Given the description of an element on the screen output the (x, y) to click on. 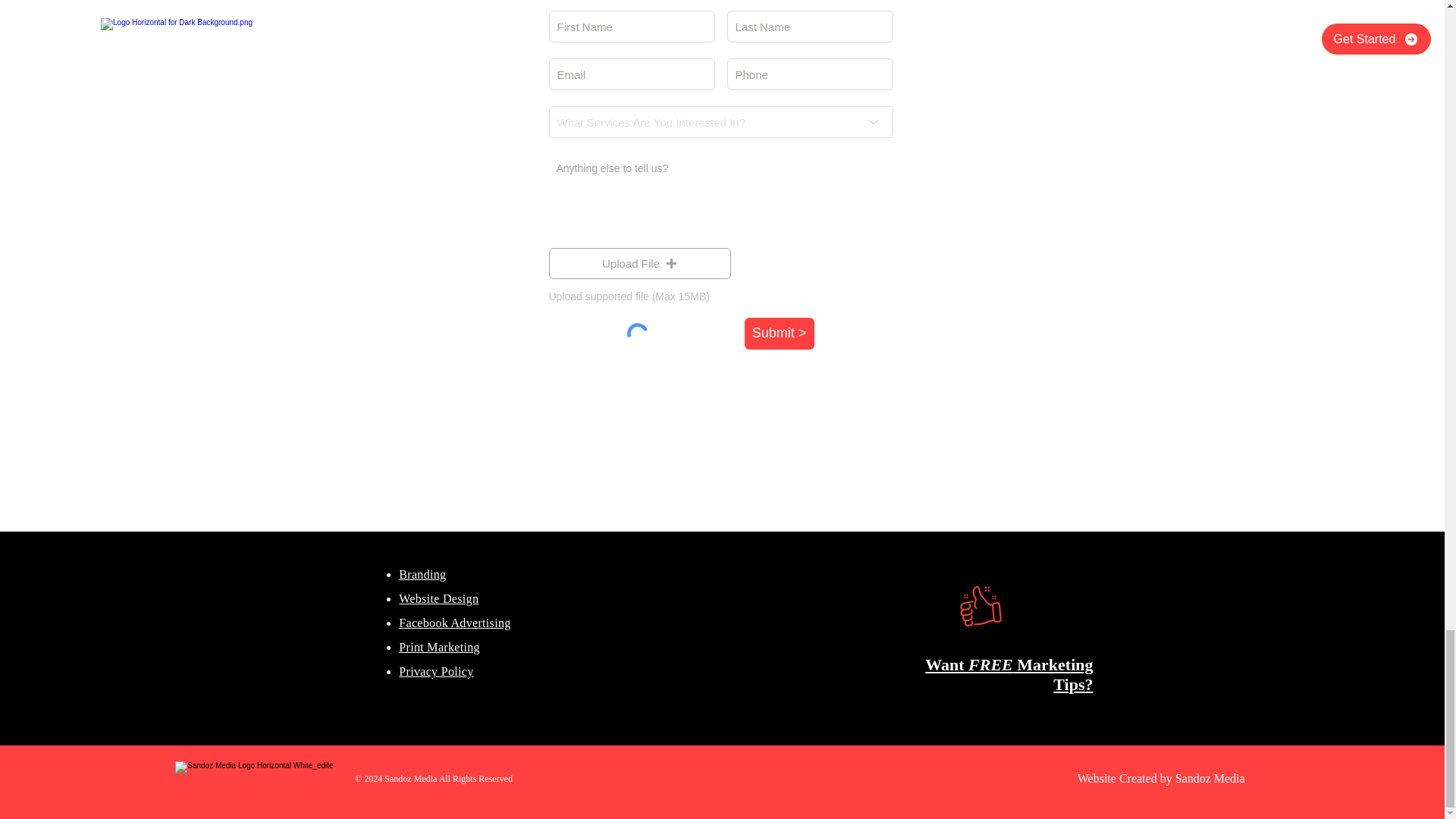
Print Marketing (439, 646)
Facebook Advertising (454, 622)
Privacy Policy (435, 671)
Want FREE Marketing Tips? (1008, 674)
Website Design (438, 598)
Branding (421, 574)
